Given the description of an element on the screen output the (x, y) to click on. 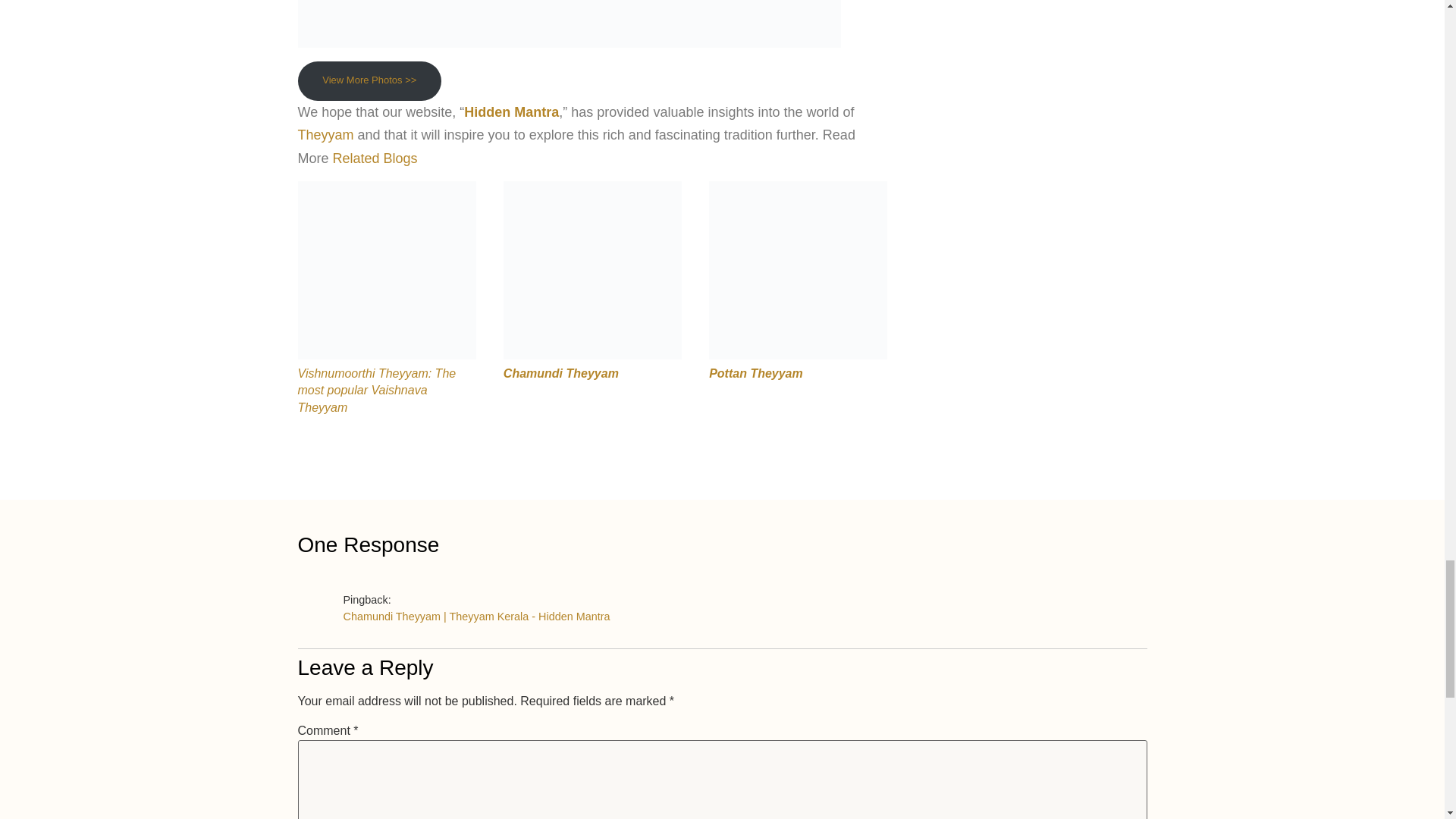
2 (568, 23)
3 (386, 269)
Hidden Mantra (511, 111)
4 (592, 269)
Theyyam (325, 134)
5 (797, 269)
